Given the description of an element on the screen output the (x, y) to click on. 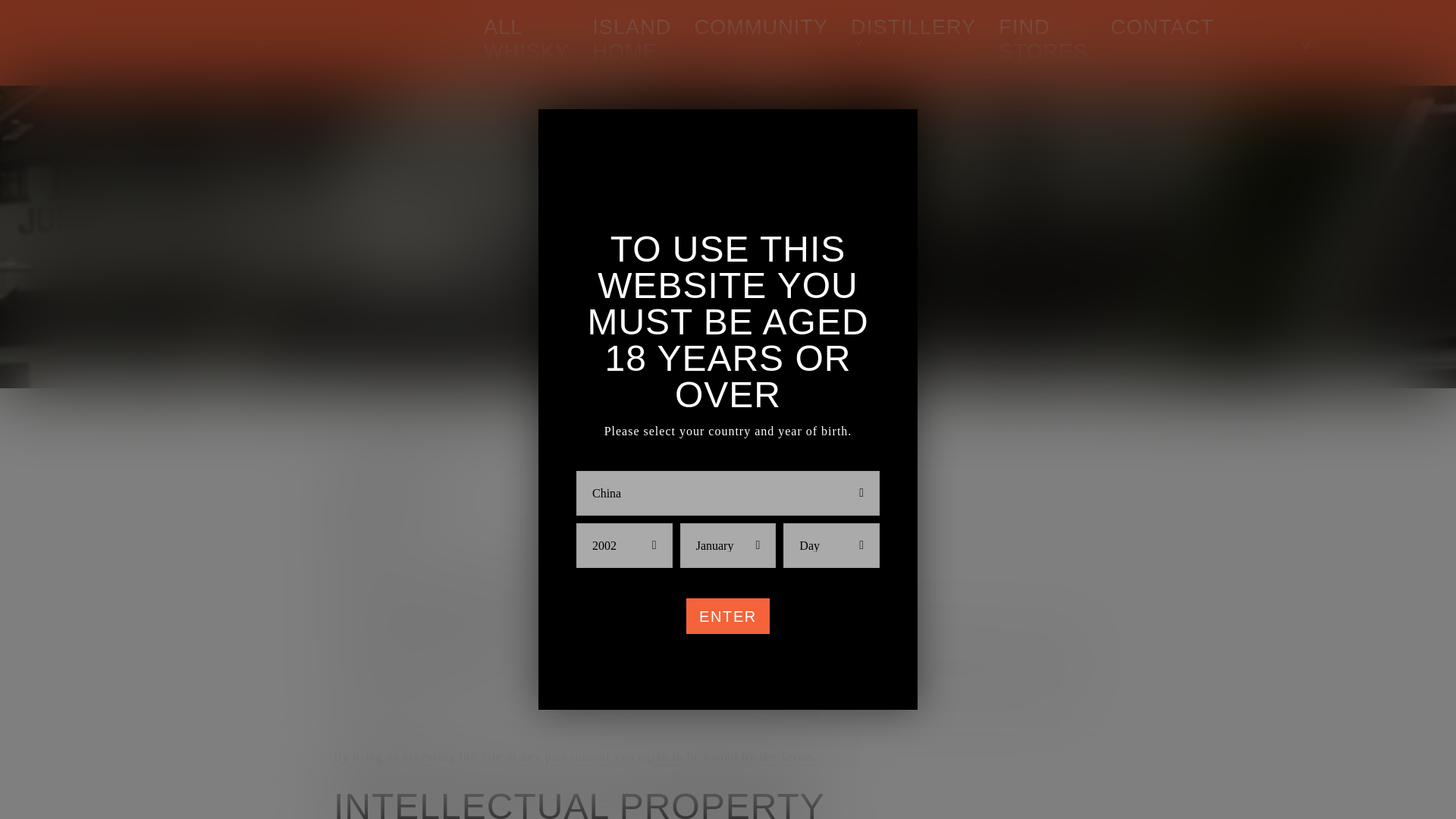
COMMUNITY (761, 26)
ISLAND HOME (631, 39)
CONTACT (1162, 26)
ENTER (727, 616)
FIND STORES (1042, 39)
ALL WHISKY (526, 39)
DISTILLERY (912, 26)
